Given the description of an element on the screen output the (x, y) to click on. 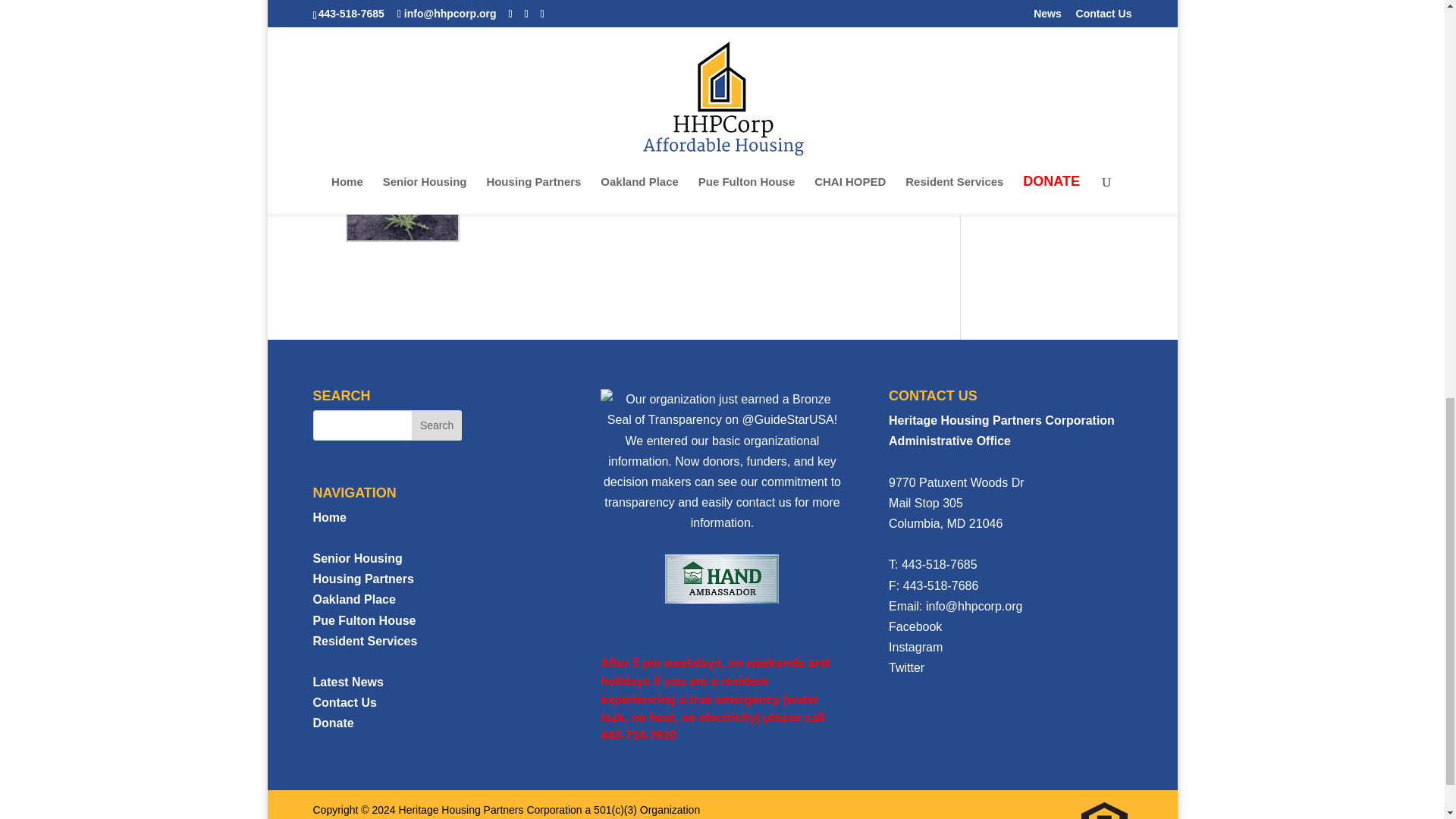
Search (436, 425)
